Given the description of an element on the screen output the (x, y) to click on. 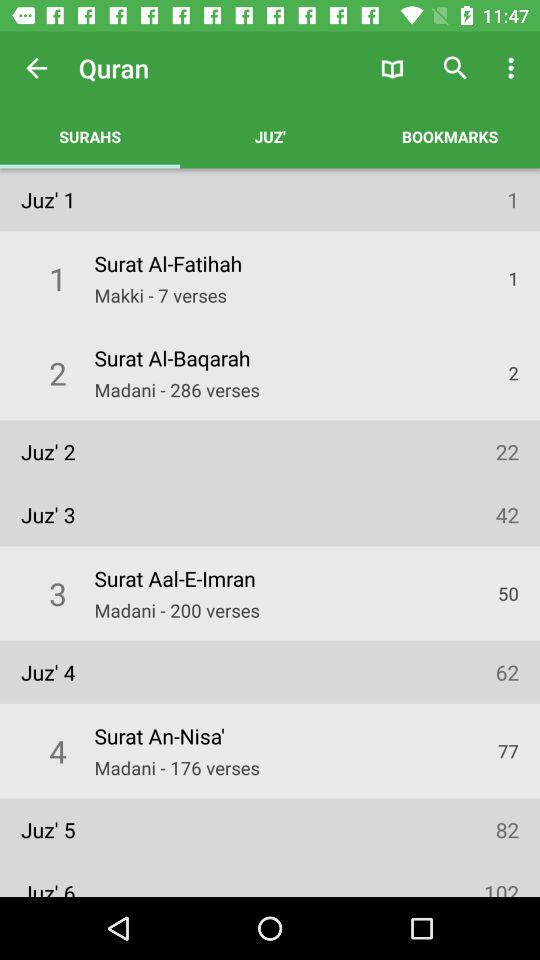
choose the icon above surahs (36, 68)
